Given the description of an element on the screen output the (x, y) to click on. 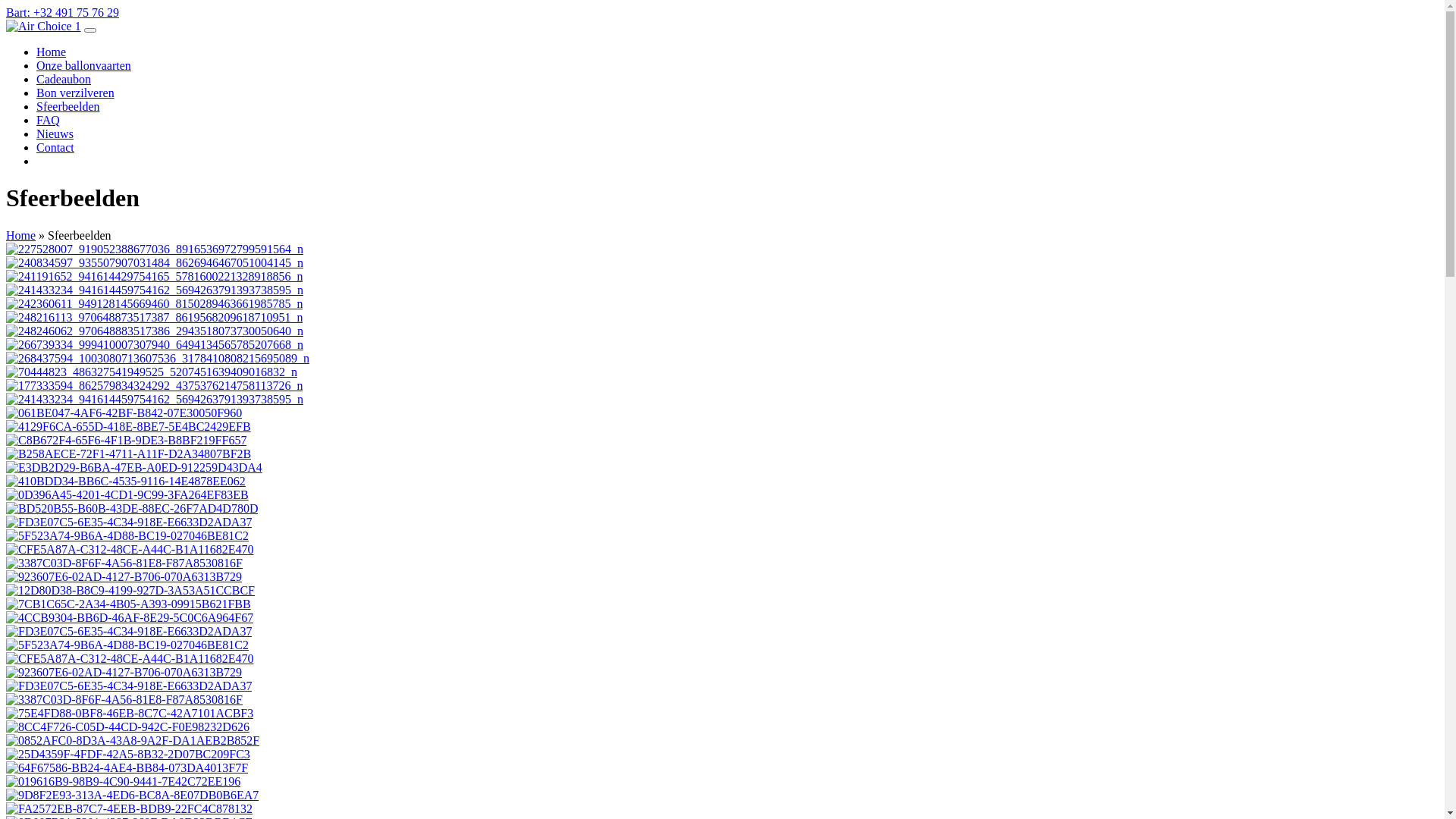
4CCB9304-BB6D-46AF-8E29-5C0C6A964F67 Element type: hover (129, 617)
FA2572EB-87C7-4EEB-BDB9-22FC4C878132 Element type: hover (129, 808)
12D80D38-B8C9-4199-927D-3A53A51CCBCF Element type: hover (130, 589)
241433234_941614459754162_5694263791393738595_n Element type: hover (154, 398)
248246062_970648883517386_2943518073730050640_n Element type: hover (154, 330)
3387C03D-8F6F-4A56-81E8-F87A8530816F Element type: hover (124, 699)
177333594_862579834324292_4375376214758113726_n Element type: hover (154, 385)
923607E6-02AD-4127-B706-070A6313B729 Element type: hover (123, 576)
CFE5A87A-C312-48CE-A44C-B1A11682E470 Element type: hover (130, 548)
FD3E07C5-6E35-4C34-918E-E6633D2ADA37 Element type: hover (128, 685)
266739334_999410007307940_6494134565785207668_n Element type: hover (154, 344)
Sfeerbeelden Element type: text (68, 106)
0852AFC0-8D3A-43A8-9A2F-DA1AEB2B852F Element type: hover (132, 740)
BD520B55-B60B-43DE-88EC-26F7AD4D780D Element type: hover (131, 508)
Onze ballonvaarten Element type: text (83, 65)
70444823_486327541949525_5207451639409016832_n Element type: hover (151, 371)
248216113_970648873517387_8619568209618710951_n Element type: hover (154, 316)
7CB1C65C-2A34-4B05-A393-09915B621FBB Element type: hover (128, 603)
Contact Element type: text (55, 147)
410BDD34-BB6C-4535-9116-14E4878EE062 Element type: hover (125, 480)
CFE5A87A-C312-48CE-A44C-B1A11682E470 Element type: hover (130, 658)
Home Element type: text (20, 235)
061BE047-4AF6-42BF-B842-07E30050F960 Element type: hover (123, 412)
241191652_941614429754165_5781600221328918856_n Element type: hover (154, 275)
E3DB2D29-B6BA-47EB-A0ED-912259D43DA4 Element type: hover (134, 467)
8CC4F726-C05D-44CD-942C-F0E98232D626 Element type: hover (127, 726)
Bart: +32 491 75 76 29 Element type: text (62, 12)
3387C03D-8F6F-4A56-81E8-F87A8530816F Element type: hover (124, 562)
25D4359F-4FDF-42A5-8B32-2D07BC209FC3 Element type: hover (128, 753)
242360611_949128145669460_8150289463661985785_n Element type: hover (154, 303)
FAQ Element type: text (47, 119)
Bon verzilveren Element type: text (75, 92)
5F523A74-9B6A-4D88-BC19-027046BE81C2 Element type: hover (127, 644)
C8B672F4-65F6-4F1B-9DE3-B8BF219FF657 Element type: hover (126, 439)
240834597_935507907031484_8626946467051004145_n Element type: hover (154, 262)
FD3E07C5-6E35-4C34-918E-E6633D2ADA37 Element type: hover (128, 630)
268437594_1003080713607536_3178410808215695089_n Element type: hover (157, 357)
241433234_941614459754162_5694263791393738595_n Element type: hover (154, 289)
FD3E07C5-6E35-4C34-918E-E6633D2ADA37 Element type: hover (128, 521)
4129F6CA-655D-418E-8BE7-5E4BC2429EFB Element type: hover (128, 426)
5F523A74-9B6A-4D88-BC19-027046BE81C2 Element type: hover (127, 535)
0D396A45-4201-4CD1-9C99-3FA264EF83EB Element type: hover (127, 494)
227528007_919052388677036_8916536972799591564_n Element type: hover (154, 248)
75E4FD88-0BF8-46EB-8C7C-42A7101ACBF3 Element type: hover (129, 712)
Nieuws Element type: text (54, 133)
B258AECE-72F1-4711-A11F-D2A34807BF2B Element type: hover (128, 453)
019616B9-98B9-4C90-9441-7E42C72EE196 Element type: hover (123, 781)
9D8F2E93-313A-4ED6-BC8A-8E07DB0B6EA7 Element type: hover (132, 794)
64F67586-BB24-4AE4-BB84-073DA4013F7F Element type: hover (126, 767)
923607E6-02AD-4127-B706-070A6313B729 Element type: hover (123, 671)
Cadeaubon Element type: text (63, 78)
Home Element type: text (50, 51)
